Given the description of an element on the screen output the (x, y) to click on. 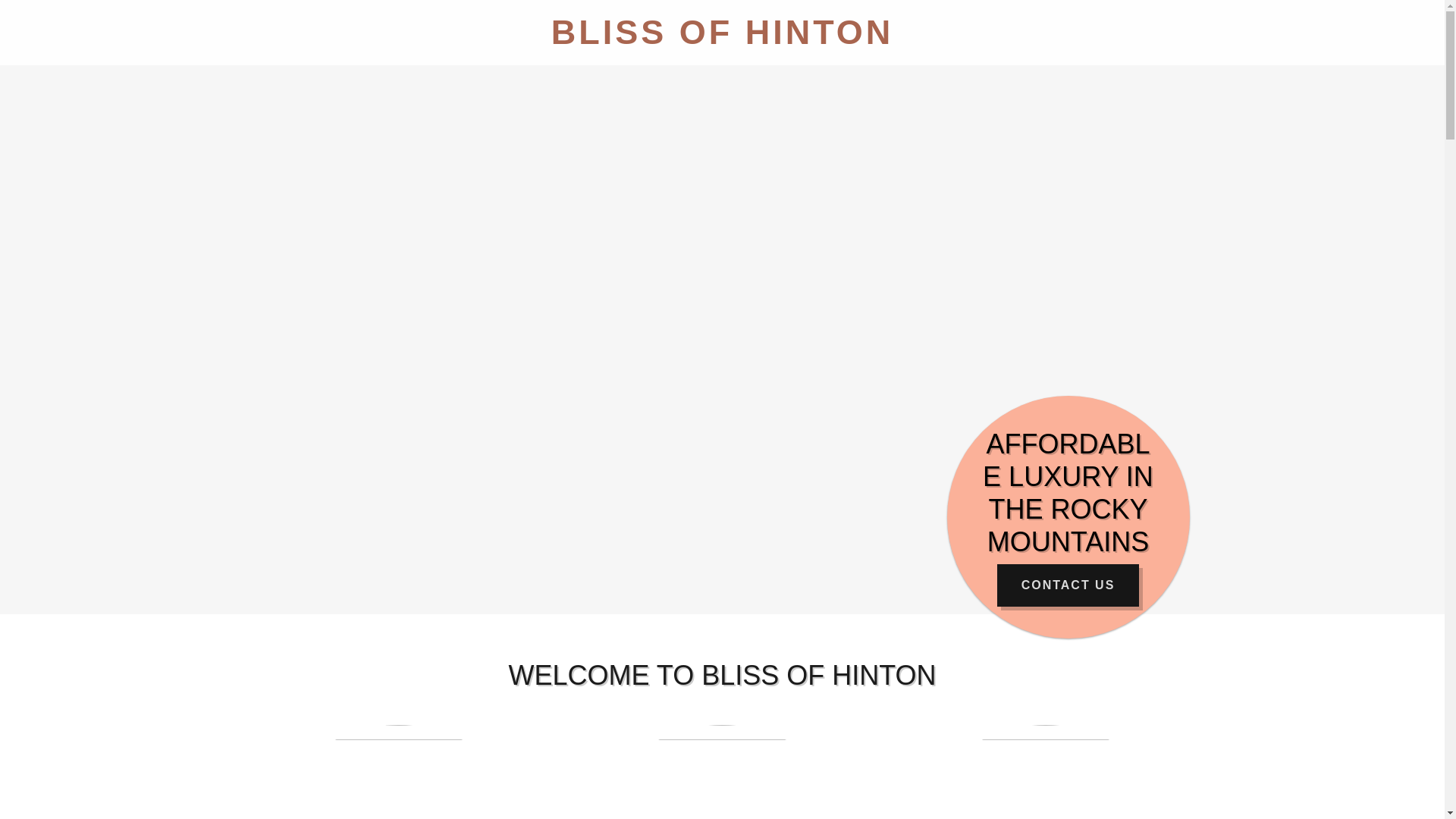
CONTACT US (1068, 585)
